Given the description of an element on the screen output the (x, y) to click on. 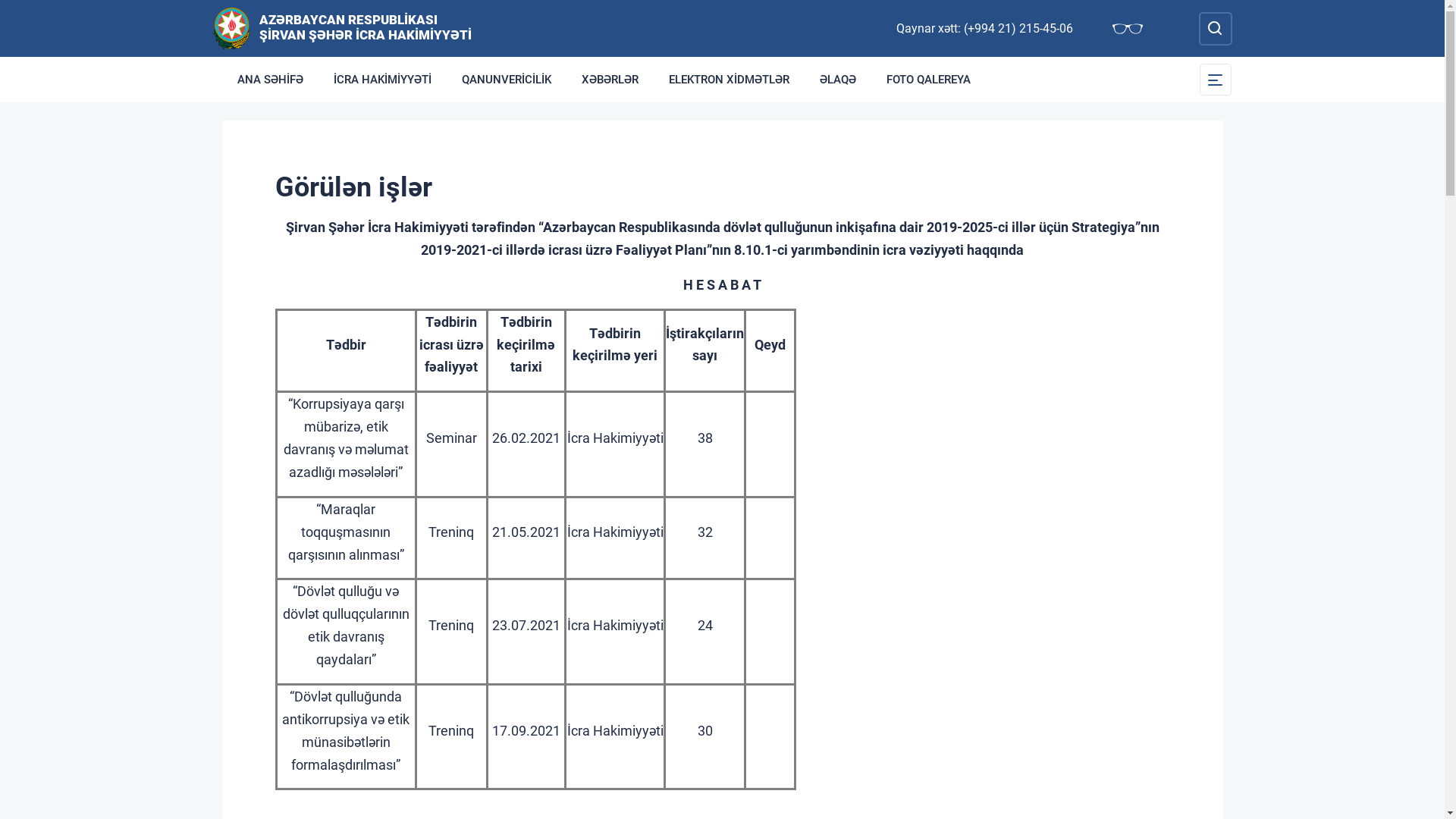
QANUNVERICILIK Element type: text (505, 79)
FOTO QALEREYA Element type: text (927, 79)
